Given the description of an element on the screen output the (x, y) to click on. 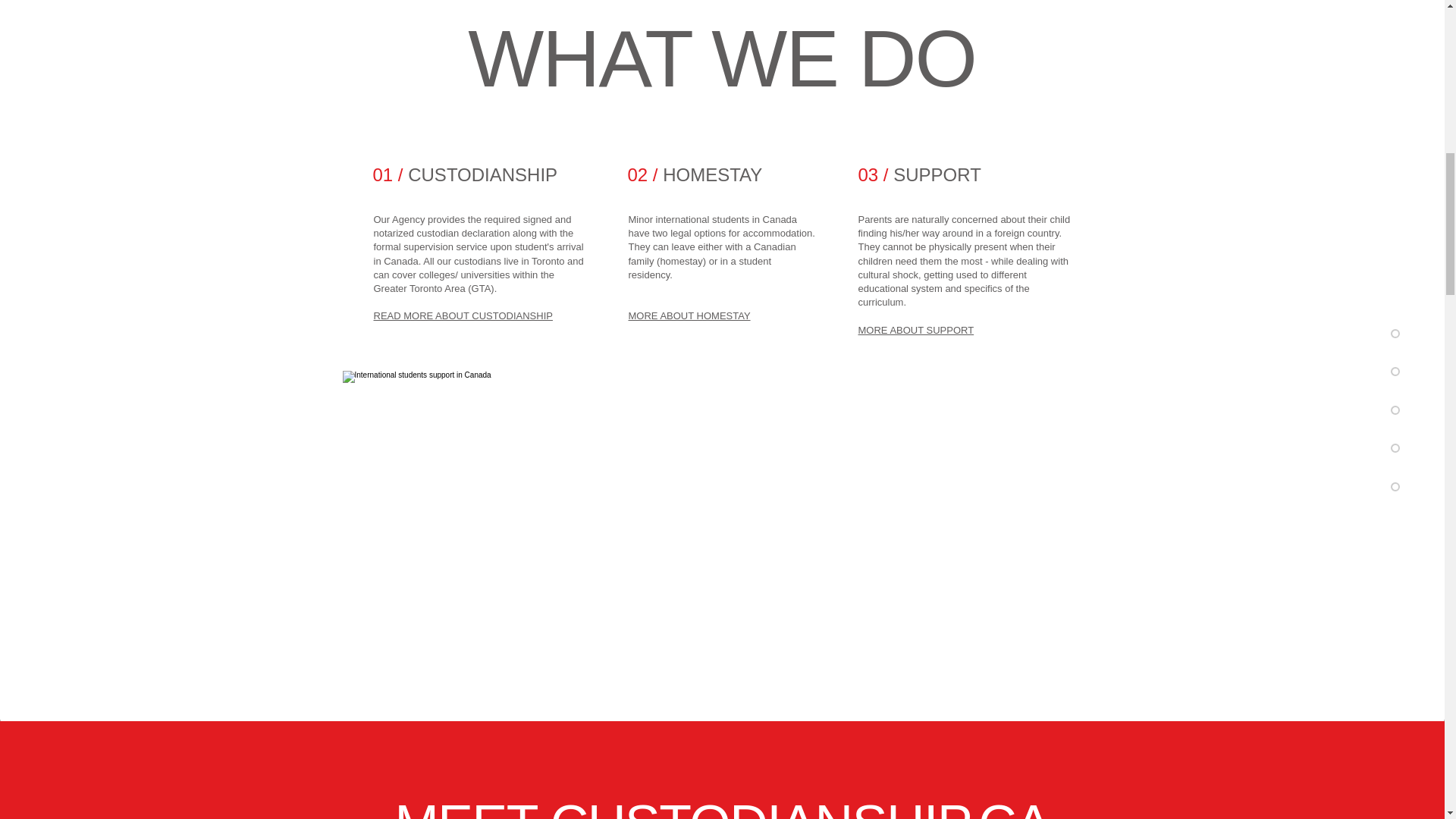
HOMESTAY (711, 174)
MORE ABOUT HOMESTAY (688, 315)
SUPPORT (937, 174)
MORE ABOUT SUPPORT (916, 329)
CUSTODIANSHIP (482, 174)
READ MORE ABOUT CUSTODIANSHIP (461, 315)
